Given the description of an element on the screen output the (x, y) to click on. 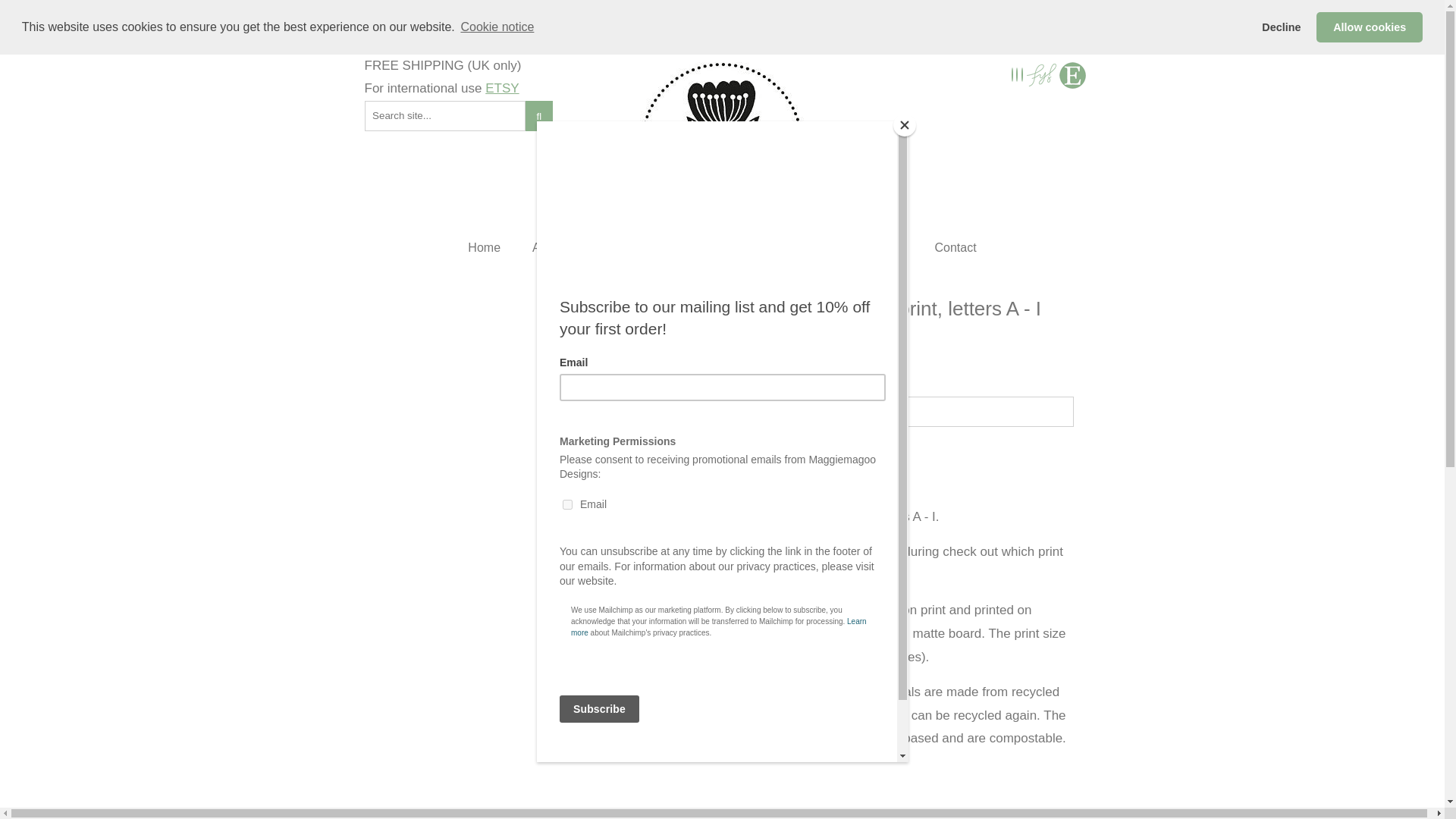
Add to cart (844, 460)
Shop (609, 247)
Cookie notice (496, 26)
maggiemagoo etsy (1072, 75)
Portfolio (678, 247)
1 (930, 411)
Shop (609, 247)
Decline (1281, 27)
Home (483, 247)
Events (828, 247)
About (547, 247)
MaggieMagoo Designs home (722, 143)
maggiemagoo iamfy (1041, 74)
Add to cart (844, 460)
Blog (889, 247)
